Given the description of an element on the screen output the (x, y) to click on. 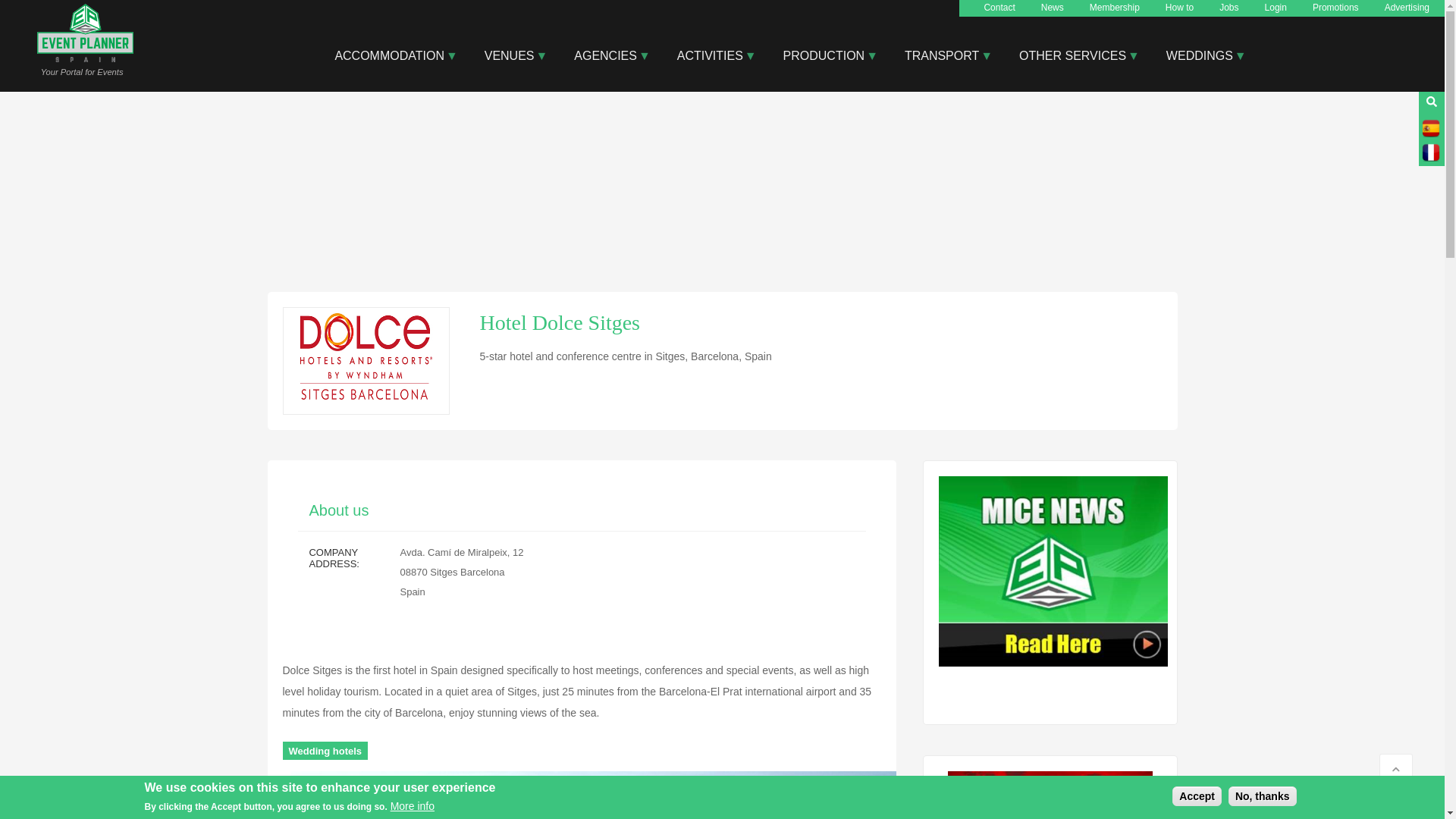
Advertising (1406, 7)
How to (1179, 7)
Click here to log into your microsite (1276, 7)
News (1052, 7)
Jobs (1229, 7)
Contact (999, 7)
Login (1276, 7)
French (1430, 152)
Promotions (1335, 7)
Membership (1114, 7)
